Given the description of an element on the screen output the (x, y) to click on. 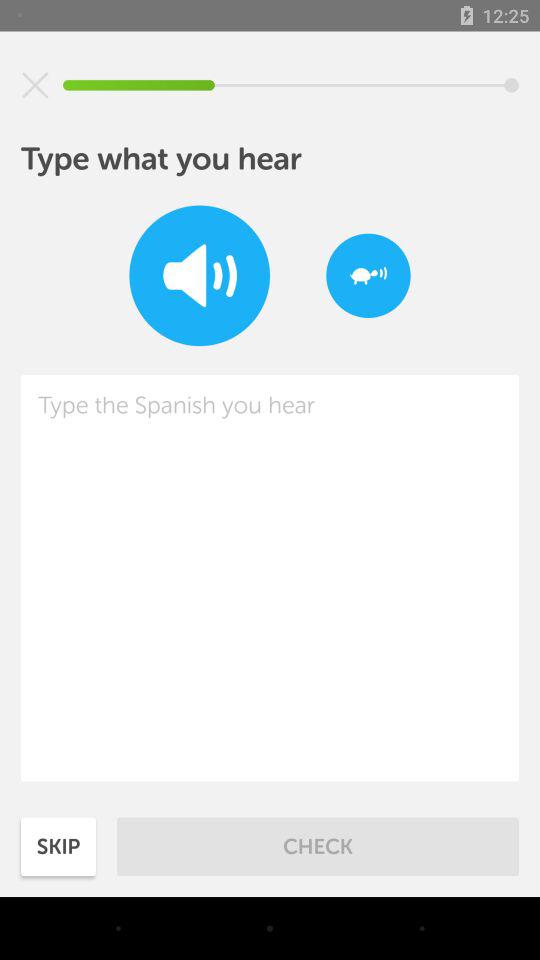
type text (270, 578)
